Given the description of an element on the screen output the (x, y) to click on. 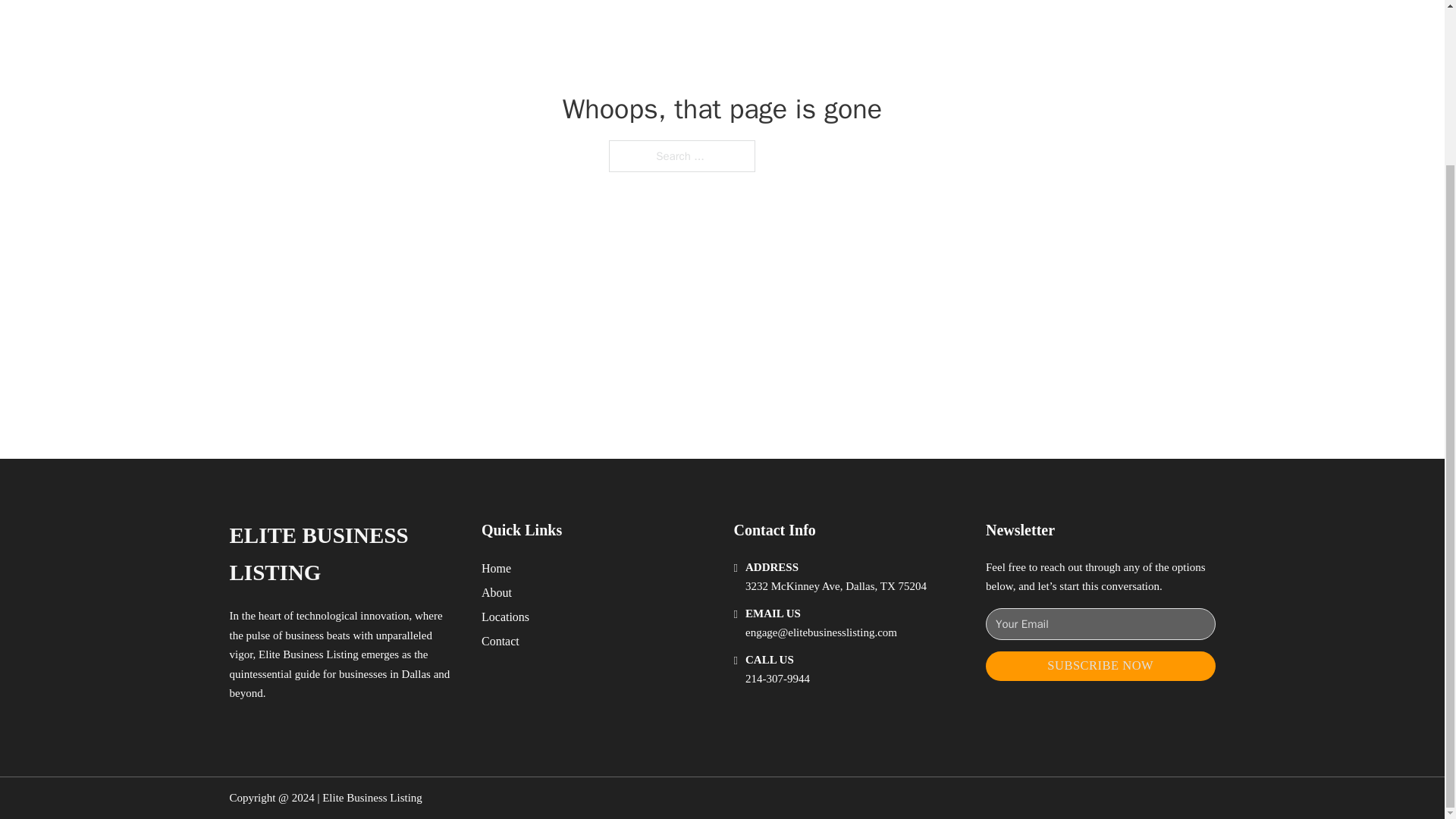
Contact (500, 640)
ELITE BUSINESS LISTING (343, 554)
About (496, 592)
214-307-9944 (777, 678)
Locations (505, 616)
Home (496, 567)
SUBSCRIBE NOW (1100, 665)
